Given the description of an element on the screen output the (x, y) to click on. 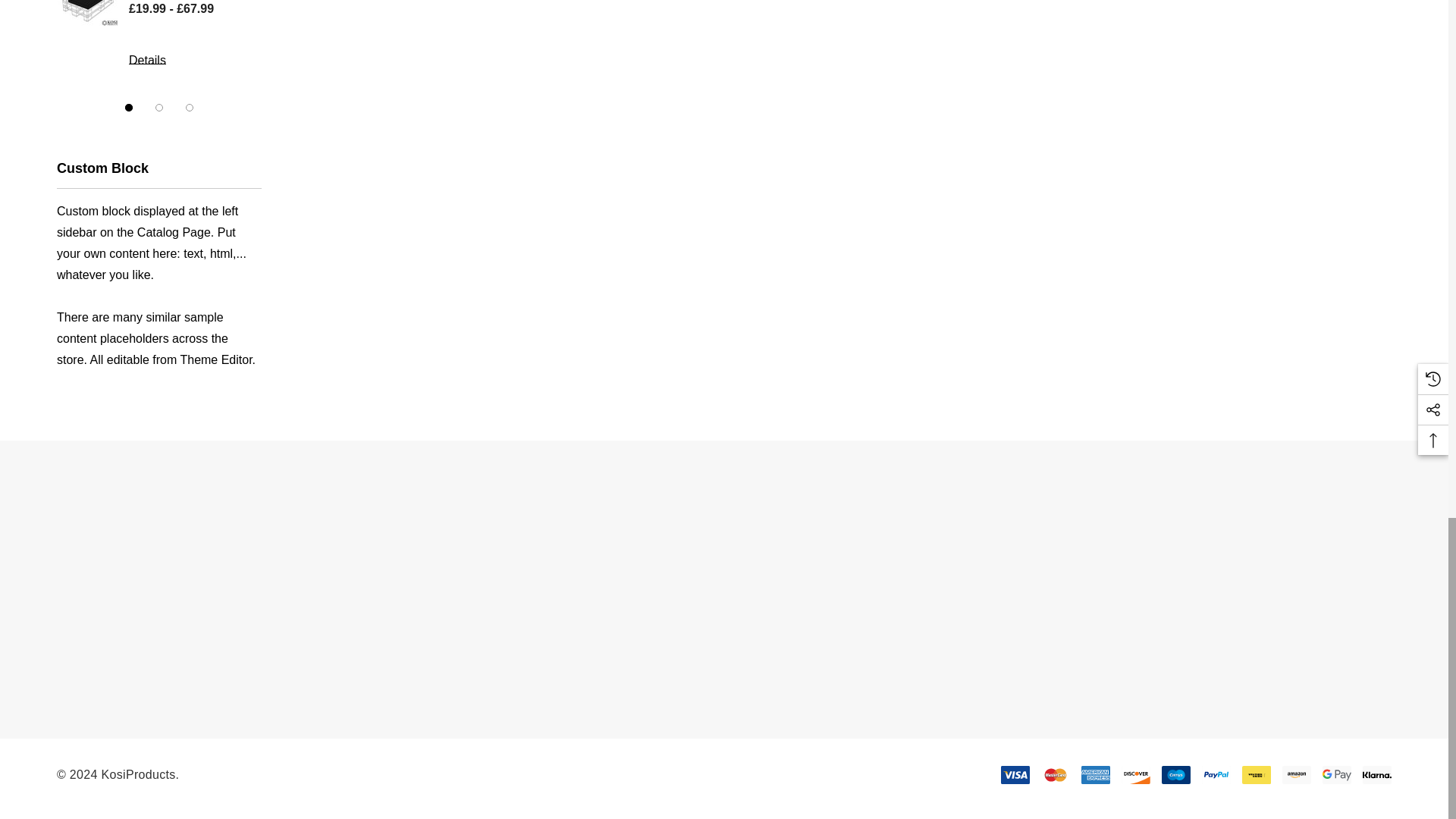
Discover Discover (1135, 774)
Western Union Western Union (1256, 774)
Cirrus Cirrus (1176, 774)
Paypal Paypal (1216, 774)
Green Pallet Seating Cushion Pads-4 (86, 17)
Mastercard Mastercard (1055, 774)
Visa Visa (1015, 774)
Amex Amex (1095, 774)
Amazonpay Amazonpay (1296, 774)
Google Pay Google Pay (1336, 774)
